Given the description of an element on the screen output the (x, y) to click on. 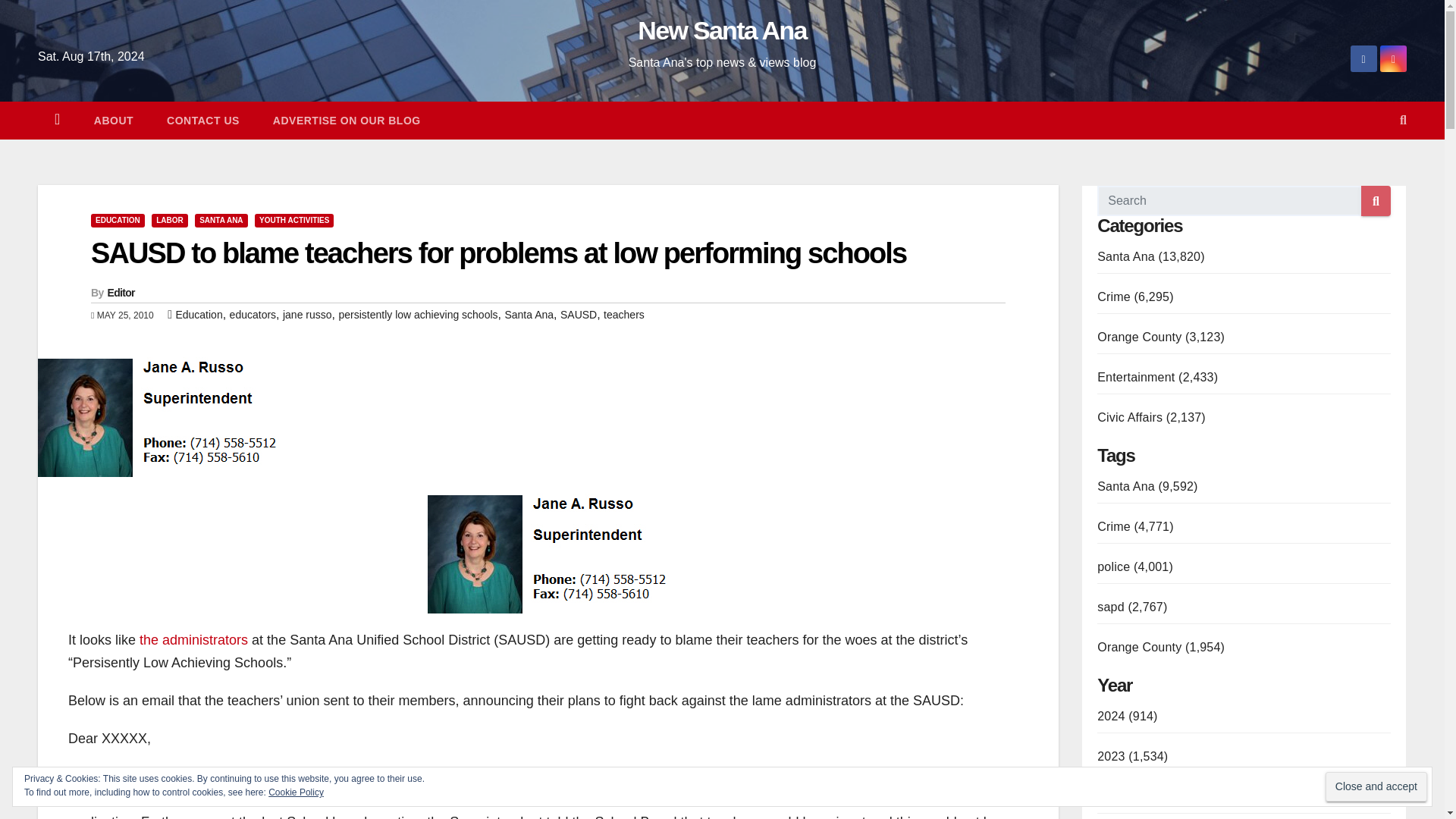
Santa Ana (528, 314)
Home (57, 120)
ADVERTISE ON OUR BLOG (347, 120)
Jane Russo blames the teachers again (548, 553)
ABOUT (113, 120)
CONTACT US (202, 120)
Jane Russo blames the teachers again - New Santa Ana (158, 416)
Close and accept (1375, 786)
the administrators (193, 639)
